Given the description of an element on the screen output the (x, y) to click on. 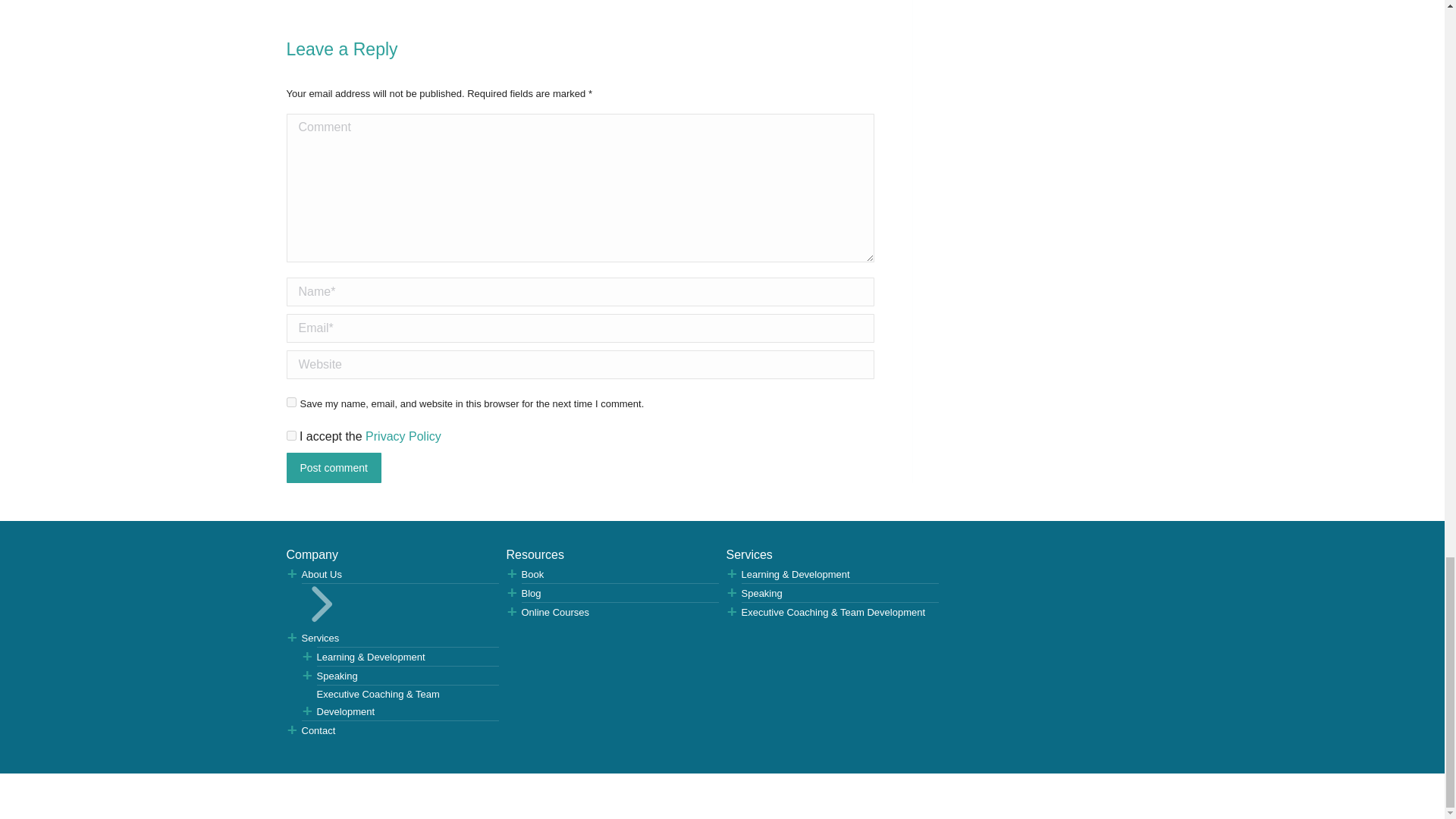
yes (291, 402)
1 (291, 435)
